Given the description of an element on the screen output the (x, y) to click on. 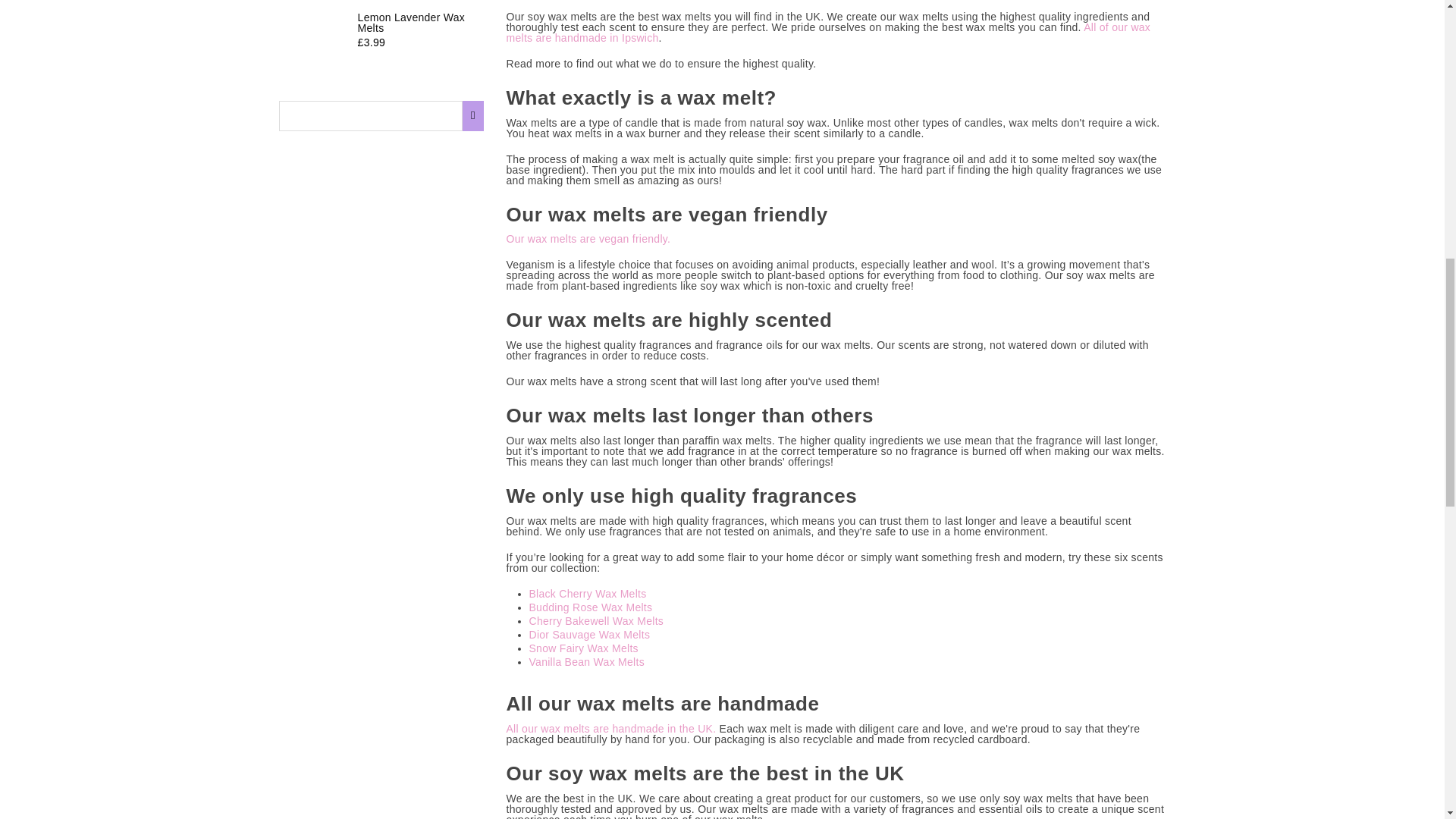
Ipswich Wax Melts (828, 33)
Budding Rose Wax Melts (590, 607)
Vegan Wax Melts (588, 238)
Black Cherry Wax Melts (587, 594)
